Given the description of an element on the screen output the (x, y) to click on. 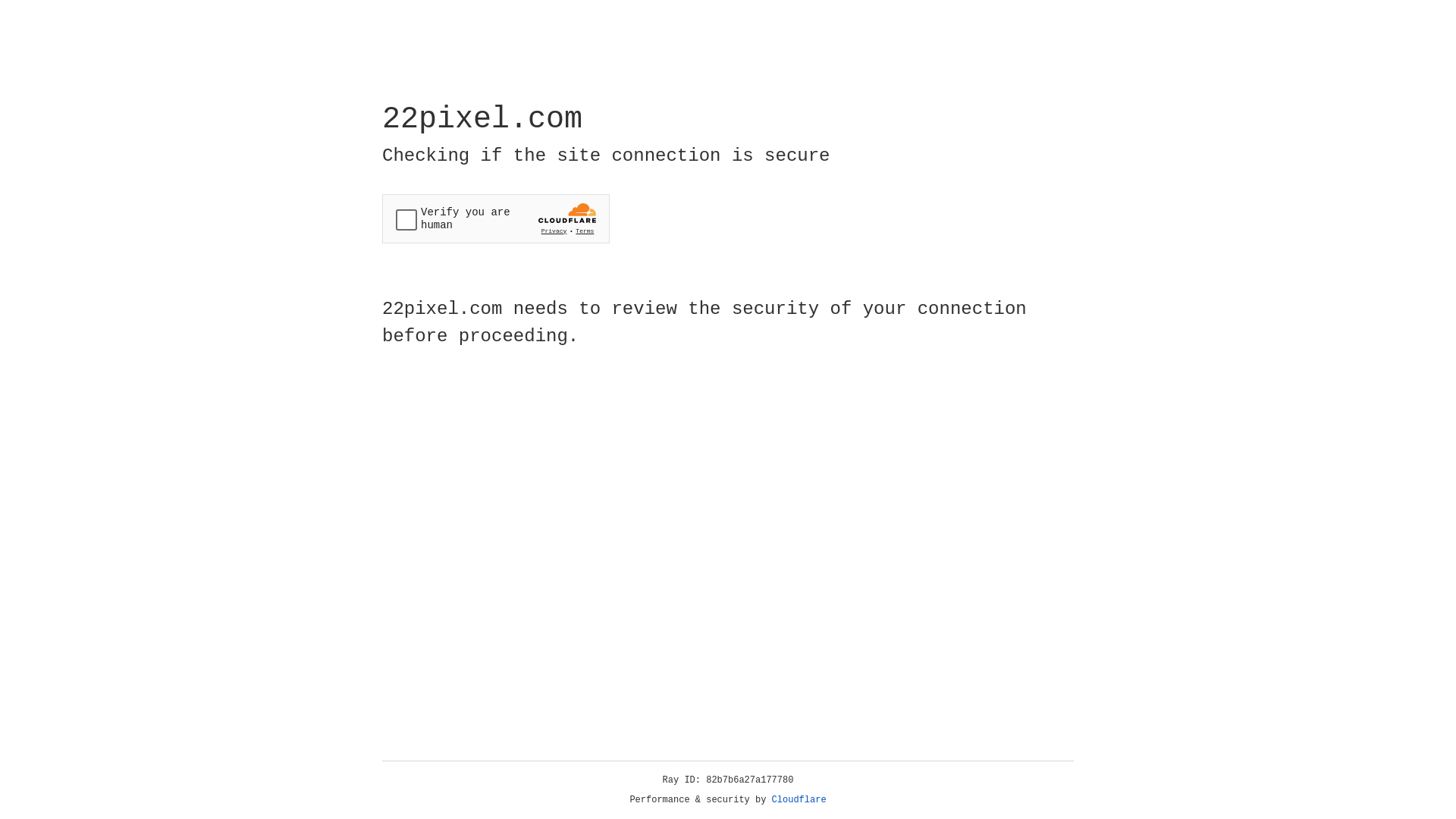
Cloudflare Element type: text (798, 799)
Widget containing a Cloudflare security challenge Element type: hover (495, 218)
